Given the description of an element on the screen output the (x, y) to click on. 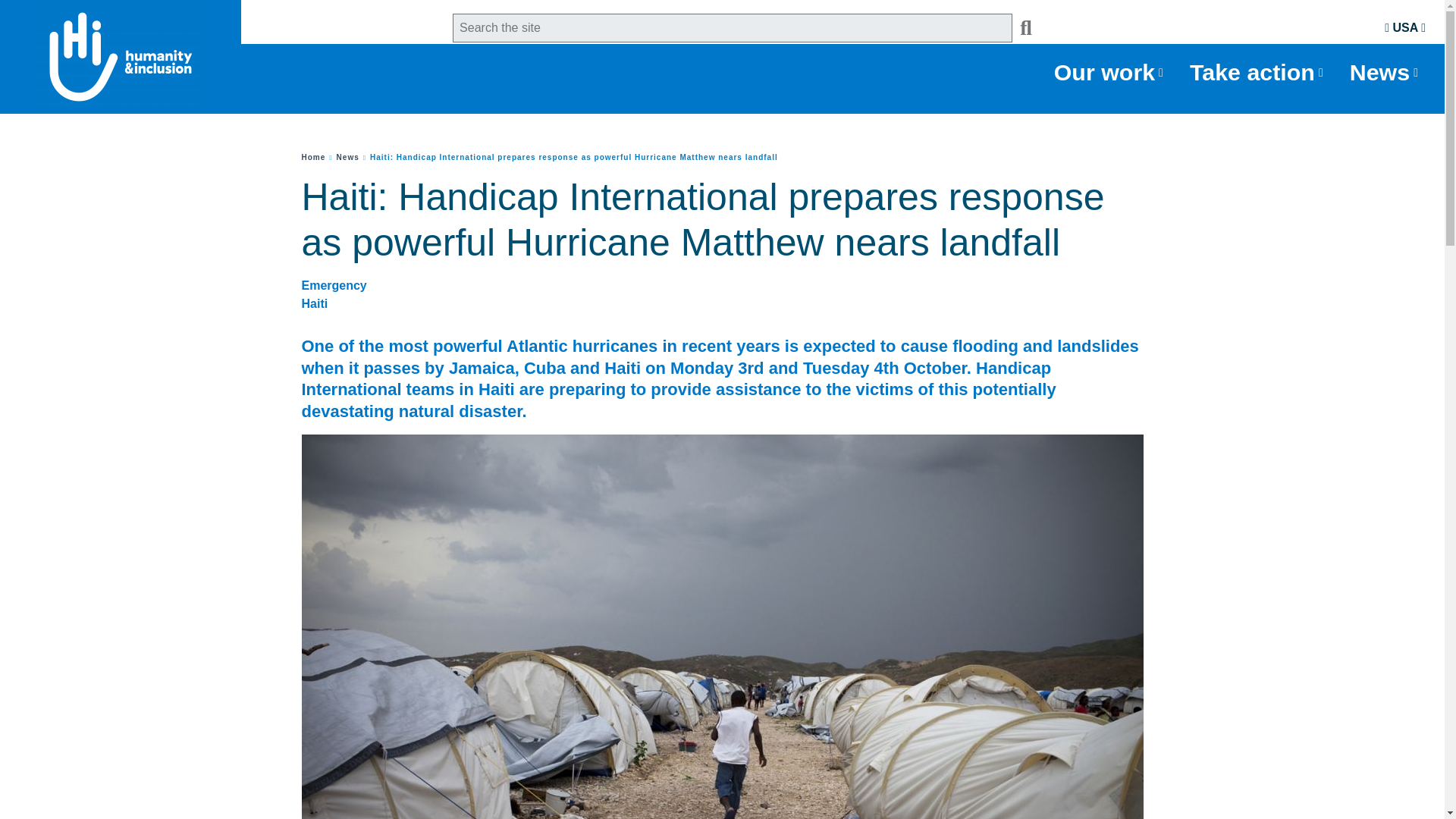
Take action (1258, 72)
Our work (1109, 72)
News (347, 157)
Search (1021, 28)
Home (313, 157)
USA (1404, 27)
